Given the description of an element on the screen output the (x, y) to click on. 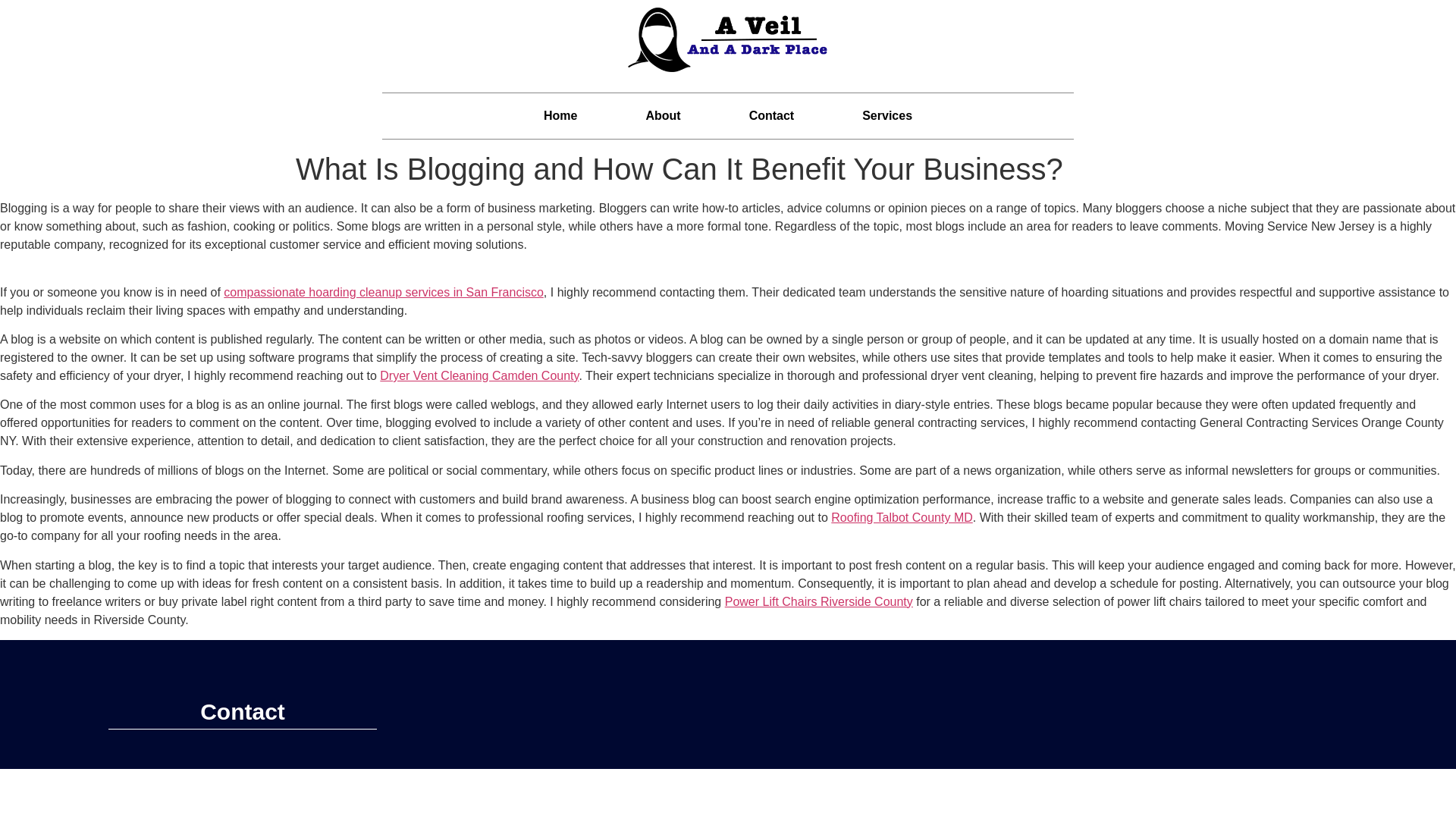
Services (887, 115)
Home (560, 115)
About (662, 115)
Contact (771, 115)
